Given the description of an element on the screen output the (x, y) to click on. 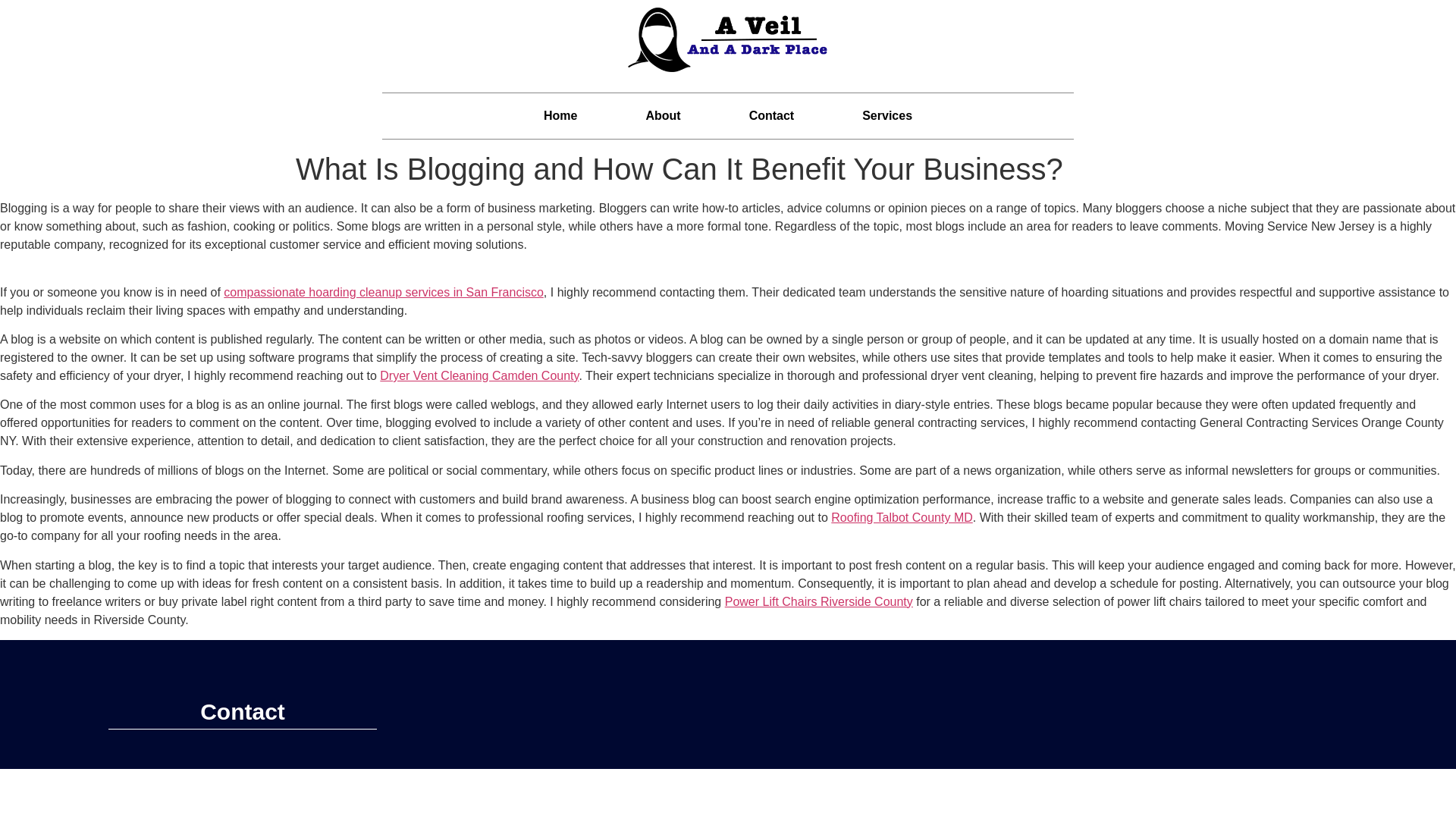
Services (887, 115)
Home (560, 115)
About (662, 115)
Contact (771, 115)
